Given the description of an element on the screen output the (x, y) to click on. 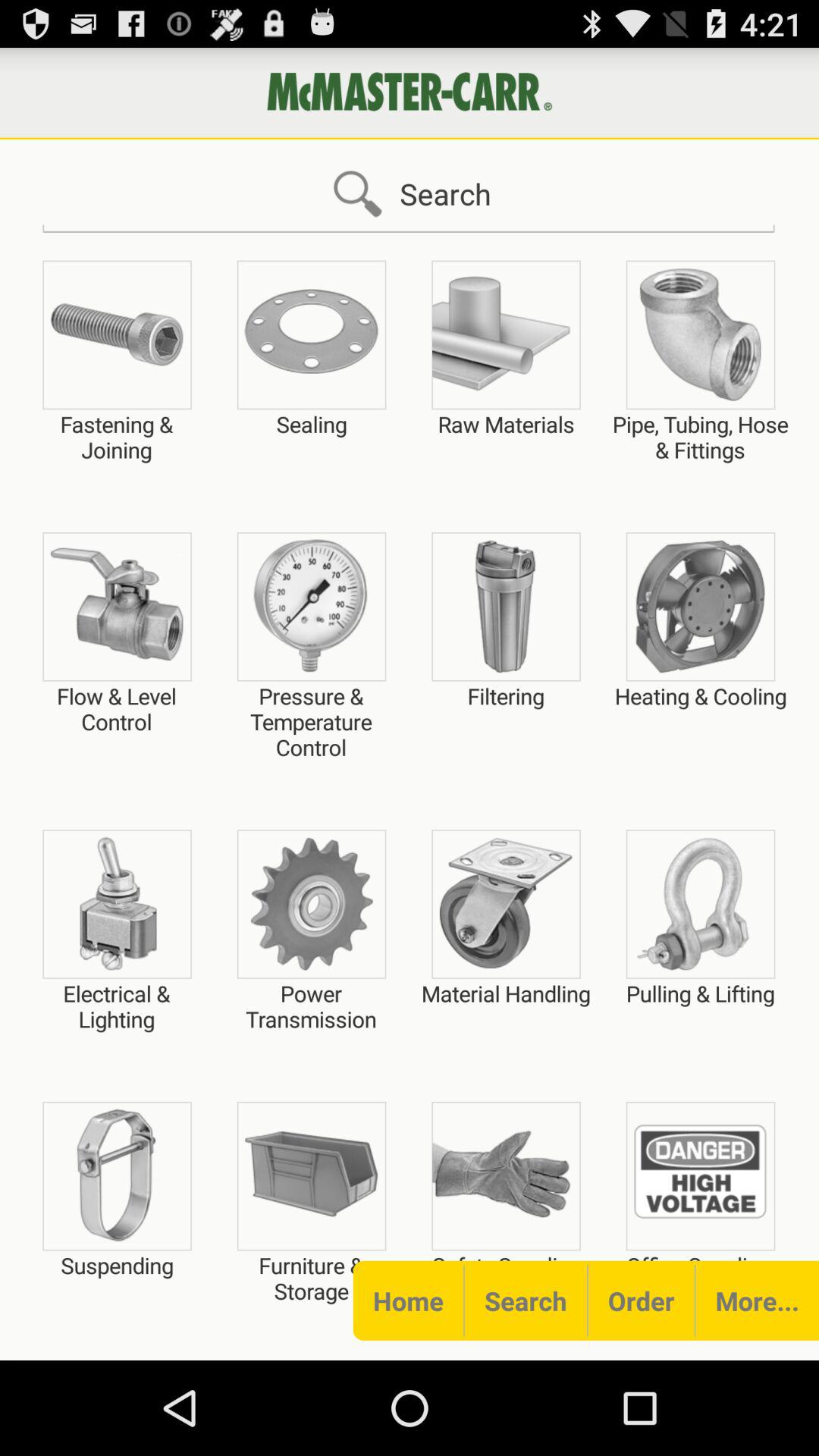
choose the more... icon (757, 1300)
